Given the description of an element on the screen output the (x, y) to click on. 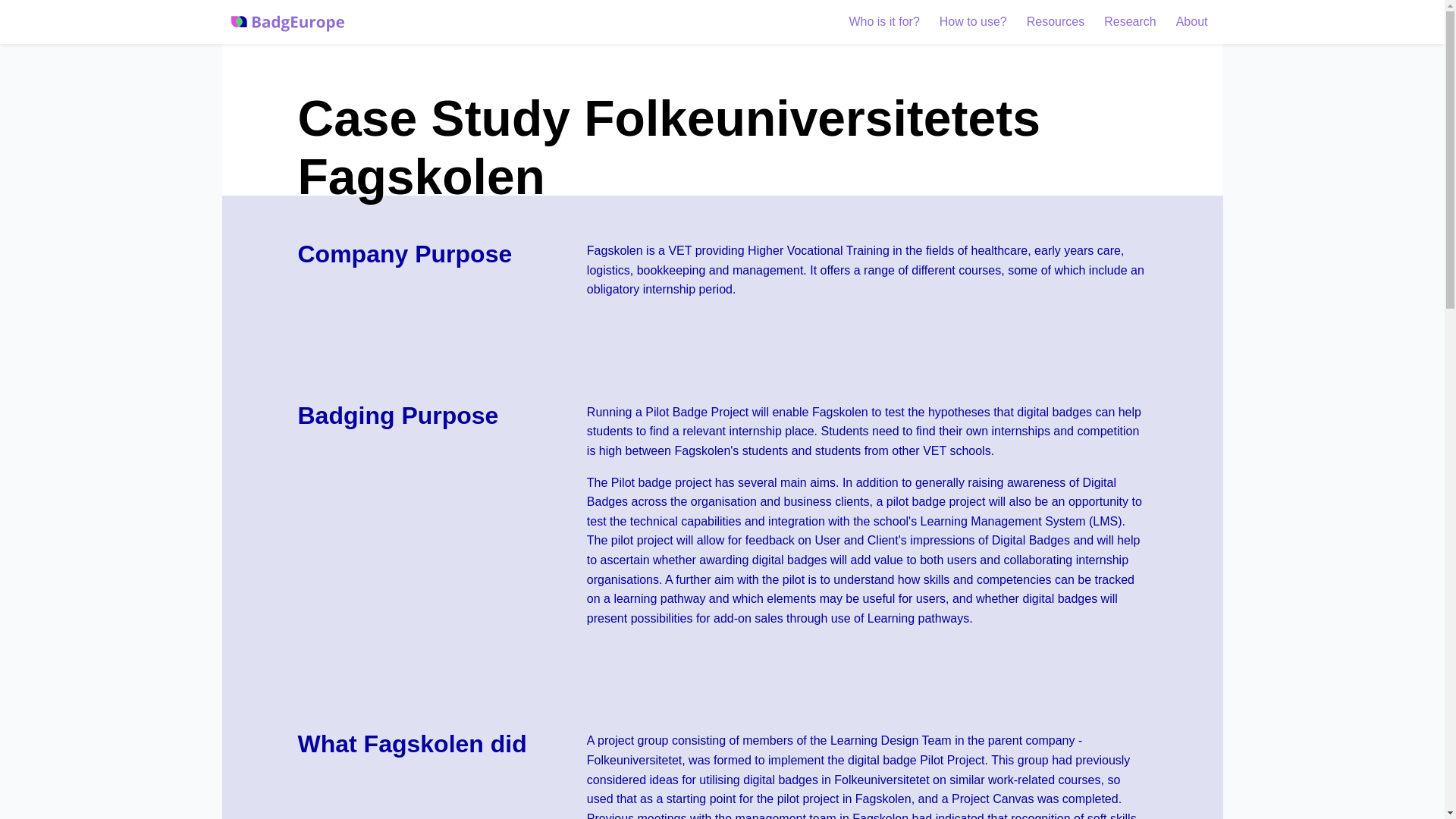
About (1192, 21)
Research (1129, 21)
How to use? (973, 21)
Resources (1055, 21)
Who is it for? (883, 21)
